Given the description of an element on the screen output the (x, y) to click on. 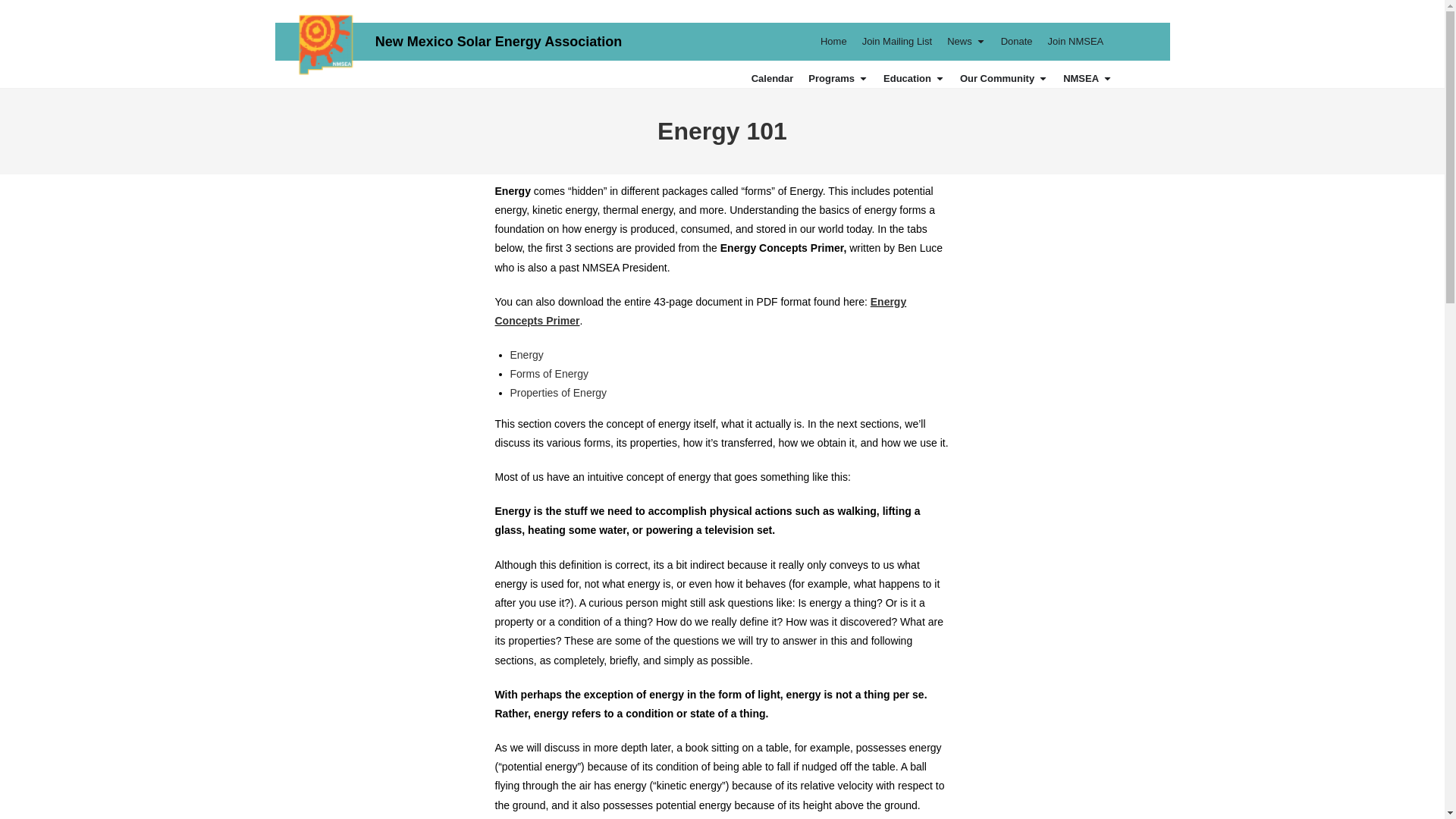
Home (834, 41)
Join Mailing List (897, 41)
Join NMSEA (1075, 41)
Donate (1016, 41)
New Mexico Solar Energy Association (498, 41)
